Given the description of an element on the screen output the (x, y) to click on. 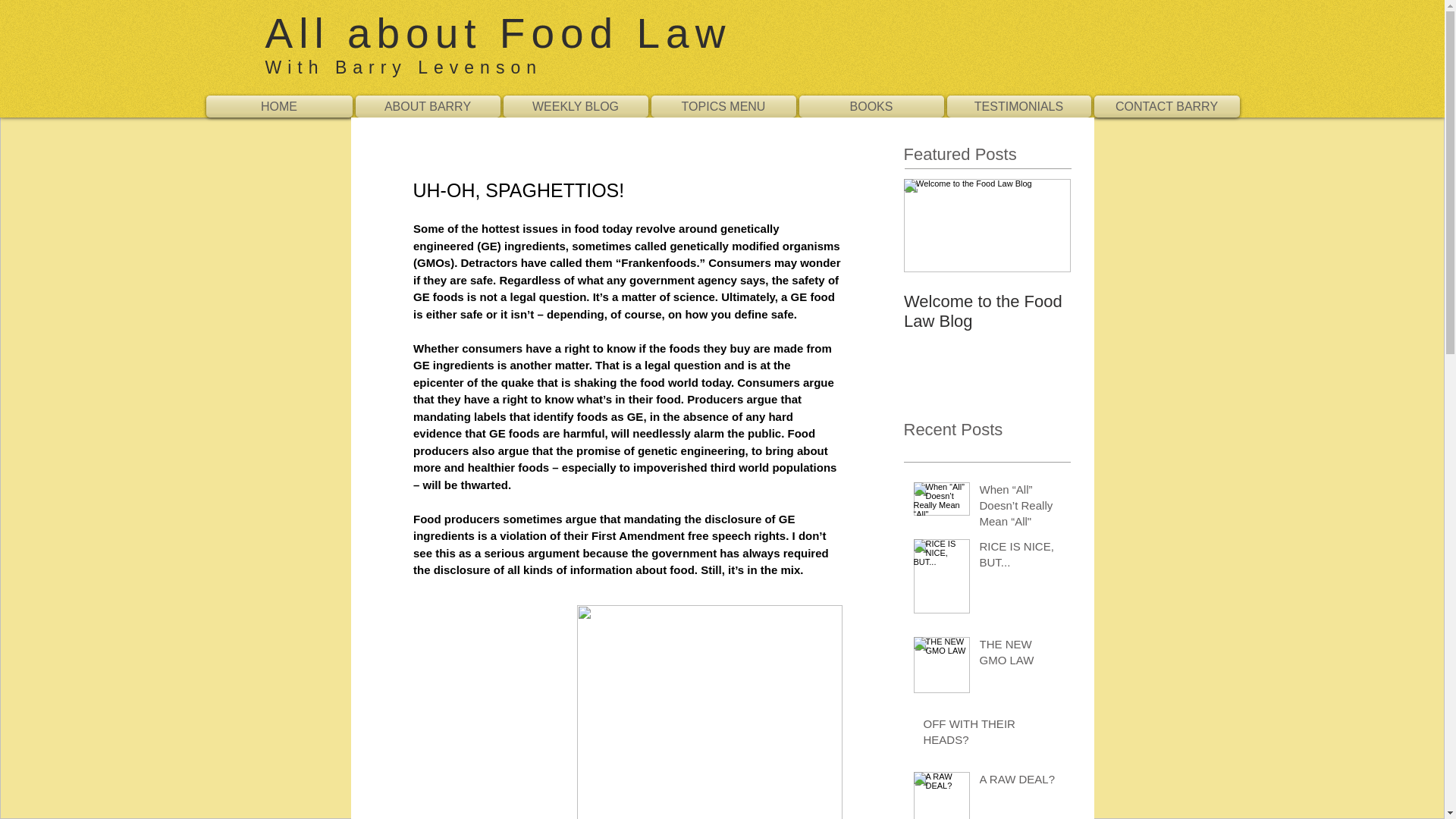
WEEKLY BLOG (575, 106)
THE NEW GMO LAW (1020, 655)
BOOKS (870, 106)
ABOUT BARRY (426, 106)
CONTACT BARRY (1165, 106)
TOPICS MENU (722, 106)
OFF WITH THEIR HEADS? (992, 734)
Welcome to the Food Law Blog (987, 311)
RICE IS NICE, BUT... (1020, 557)
A RAW DEAL? (1020, 782)
HOME (279, 106)
TESTIMONIALS (1018, 106)
